Given the description of an element on the screen output the (x, y) to click on. 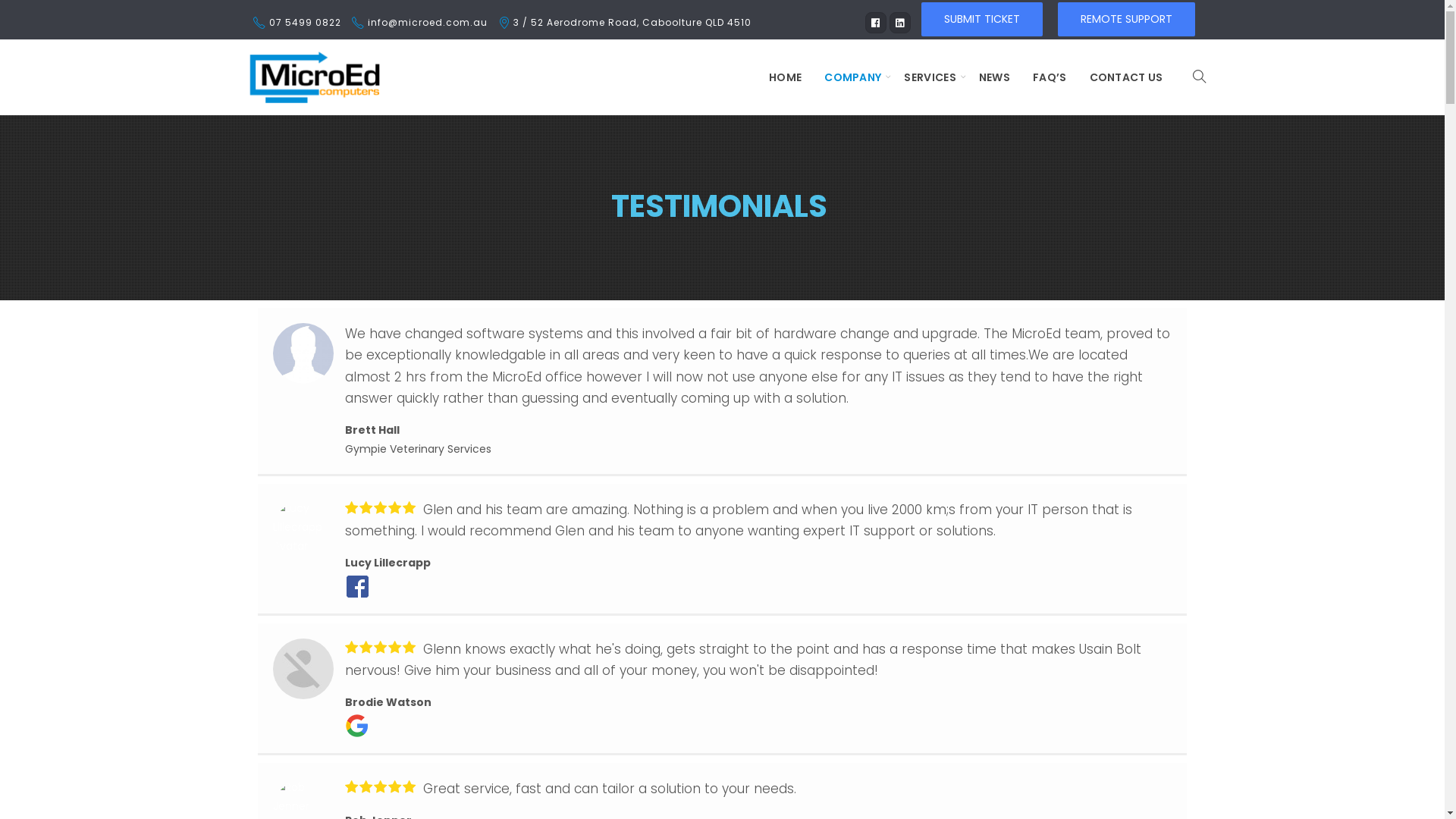
COMPANY Element type: text (852, 77)
CONTACT US Element type: text (1126, 77)
info@microed.com.au Element type: text (426, 21)
SUBMIT TICKET Element type: text (980, 18)
SERVICES Element type: text (929, 77)
07 5499 0822 Element type: text (304, 21)
NEWS Element type: text (994, 77)
REMOTE SUPPORT Element type: text (1125, 18)
HOME Element type: text (784, 77)
